Given the description of an element on the screen output the (x, y) to click on. 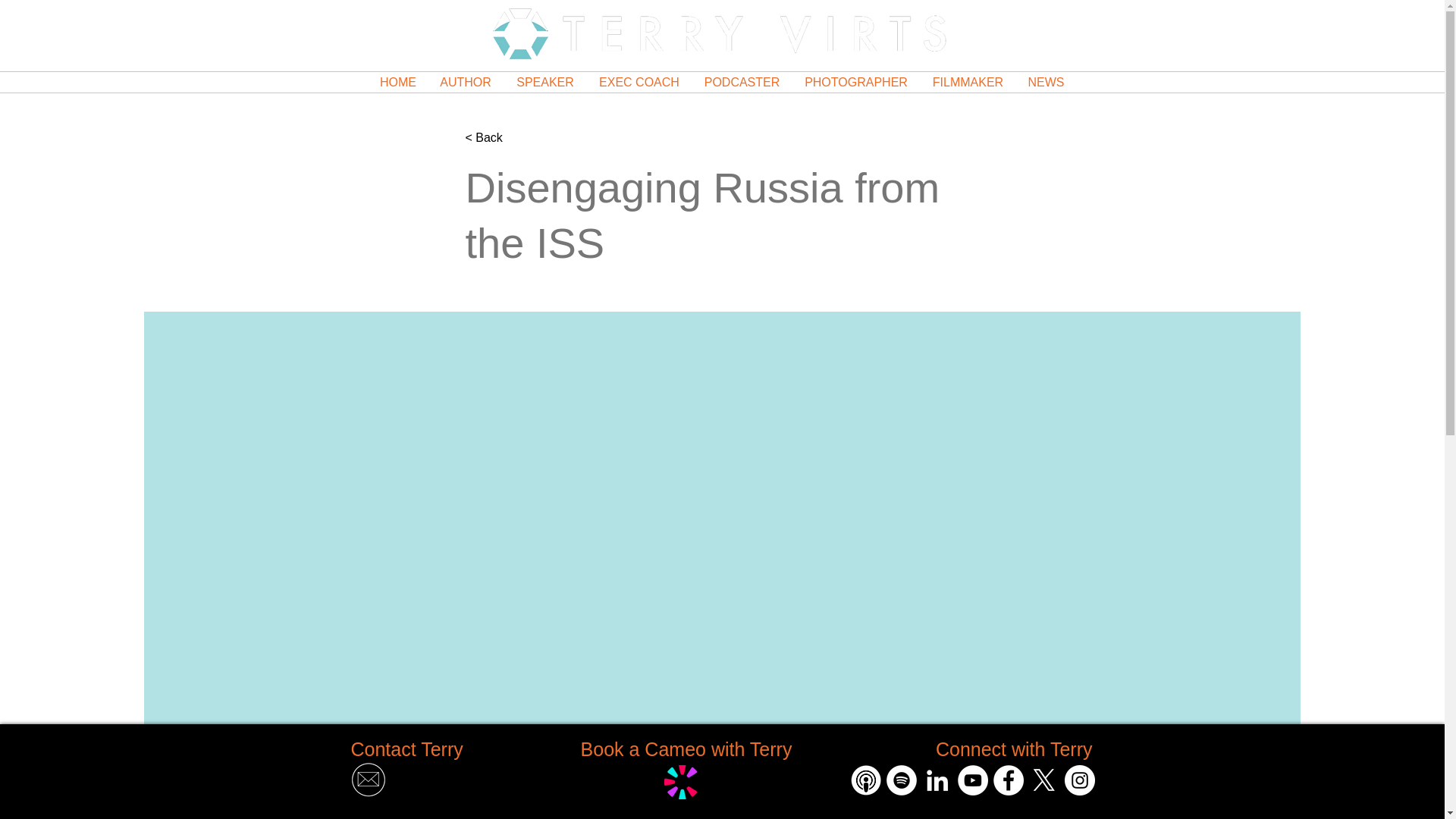
logowhite.png (719, 34)
PODCASTER (741, 82)
AUTHOR (465, 82)
HOME (398, 82)
NEWS (1045, 82)
FILMMAKER (968, 82)
EXEC COACH (638, 82)
PHOTOGRAPHER (856, 82)
SPEAKER (544, 82)
